Given the description of an element on the screen output the (x, y) to click on. 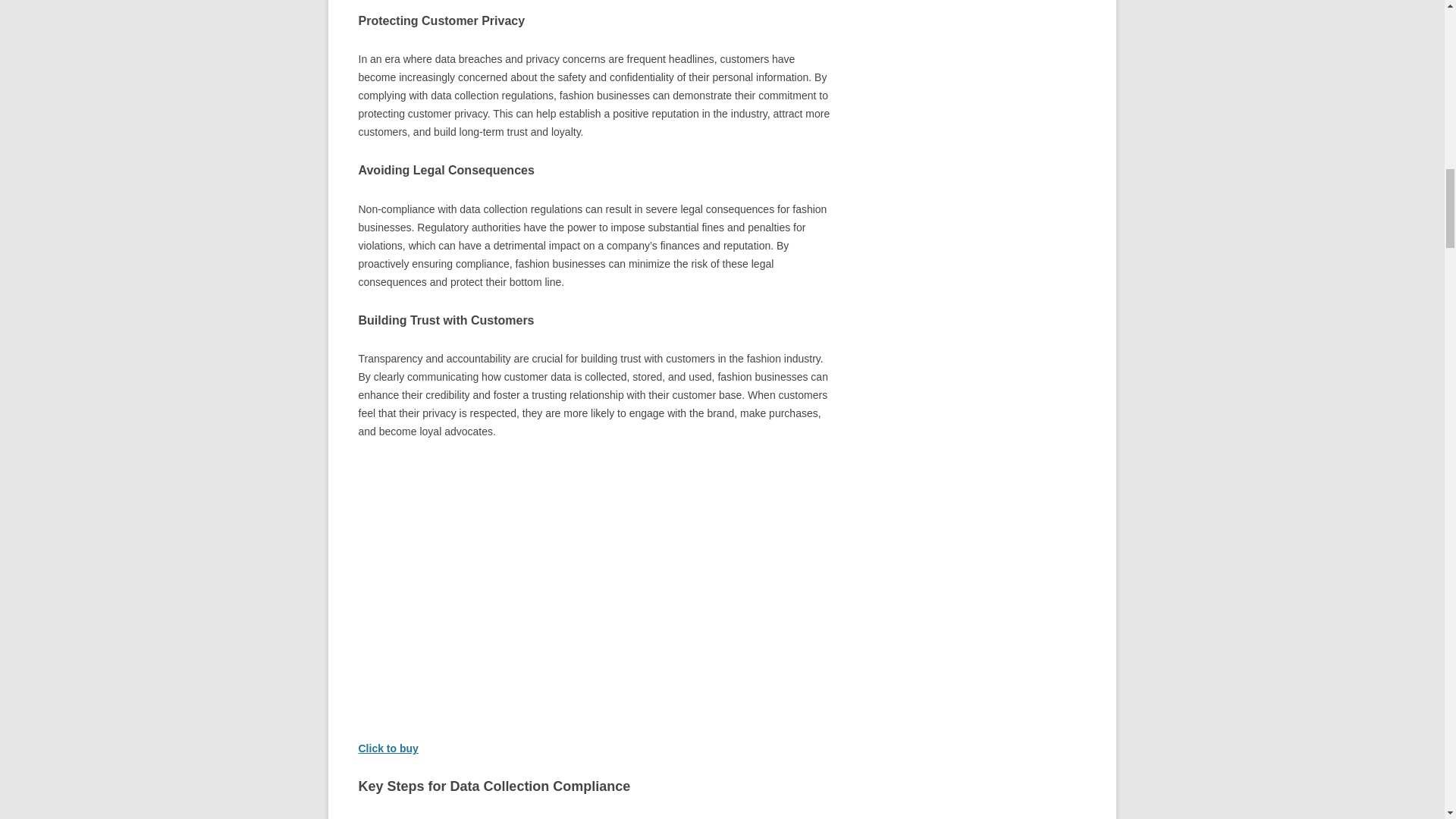
Click to buy (387, 748)
Click to view the Click to buy. (387, 748)
